Given the description of an element on the screen output the (x, y) to click on. 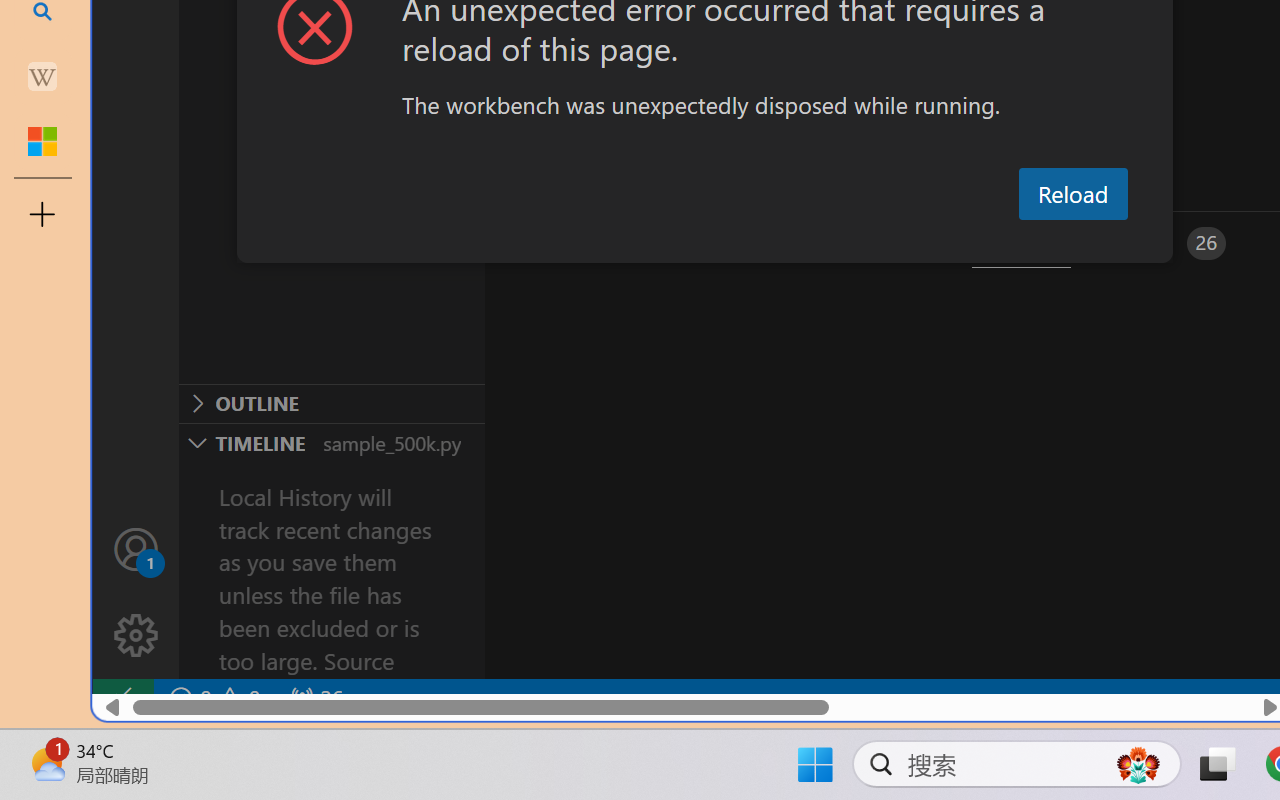
Accounts - Sign in requested (135, 548)
remote (122, 698)
Outline Section (331, 403)
Ports - 26 forwarded ports (1165, 243)
No Problems (212, 698)
Problems (Ctrl+Shift+M) (567, 243)
Output (Ctrl+Shift+U) (696, 243)
Terminal (Ctrl+`) (1021, 243)
